Given the description of an element on the screen output the (x, y) to click on. 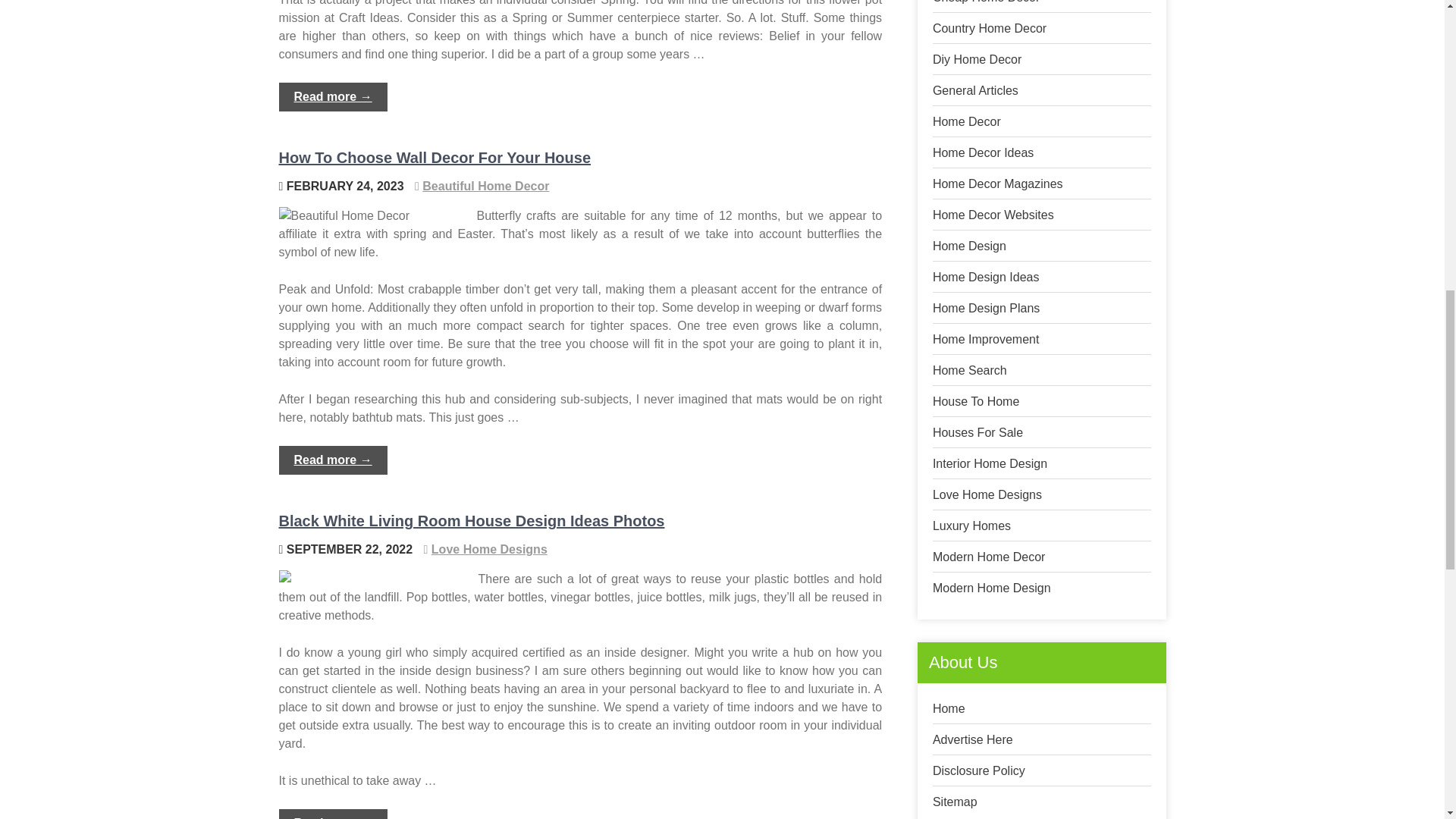
How To Choose Wall Decor For Your House (435, 157)
Black White Living Room House Design Ideas Photos (472, 520)
Love Home Designs (488, 549)
Beautiful Home Decor (485, 185)
